Given the description of an element on the screen output the (x, y) to click on. 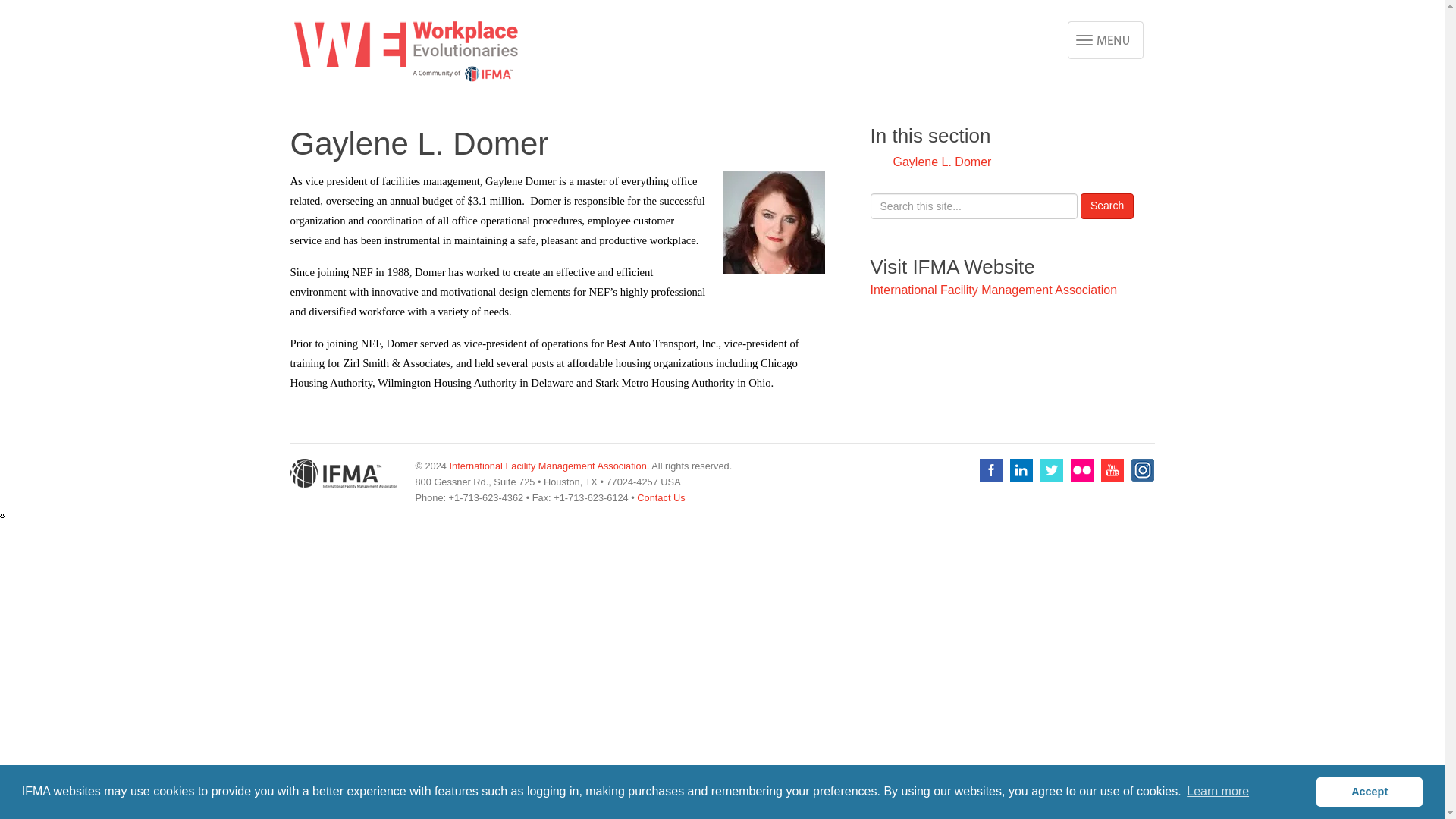
Facebook (991, 469)
Linked In (1021, 469)
Search (1107, 206)
Gaylene L. Domer (942, 161)
YouTube (1112, 469)
Instagram (1142, 469)
Flickr (1081, 469)
IFMA (342, 477)
Twitter (1051, 469)
Toggle navigation (1104, 39)
